Given the description of an element on the screen output the (x, y) to click on. 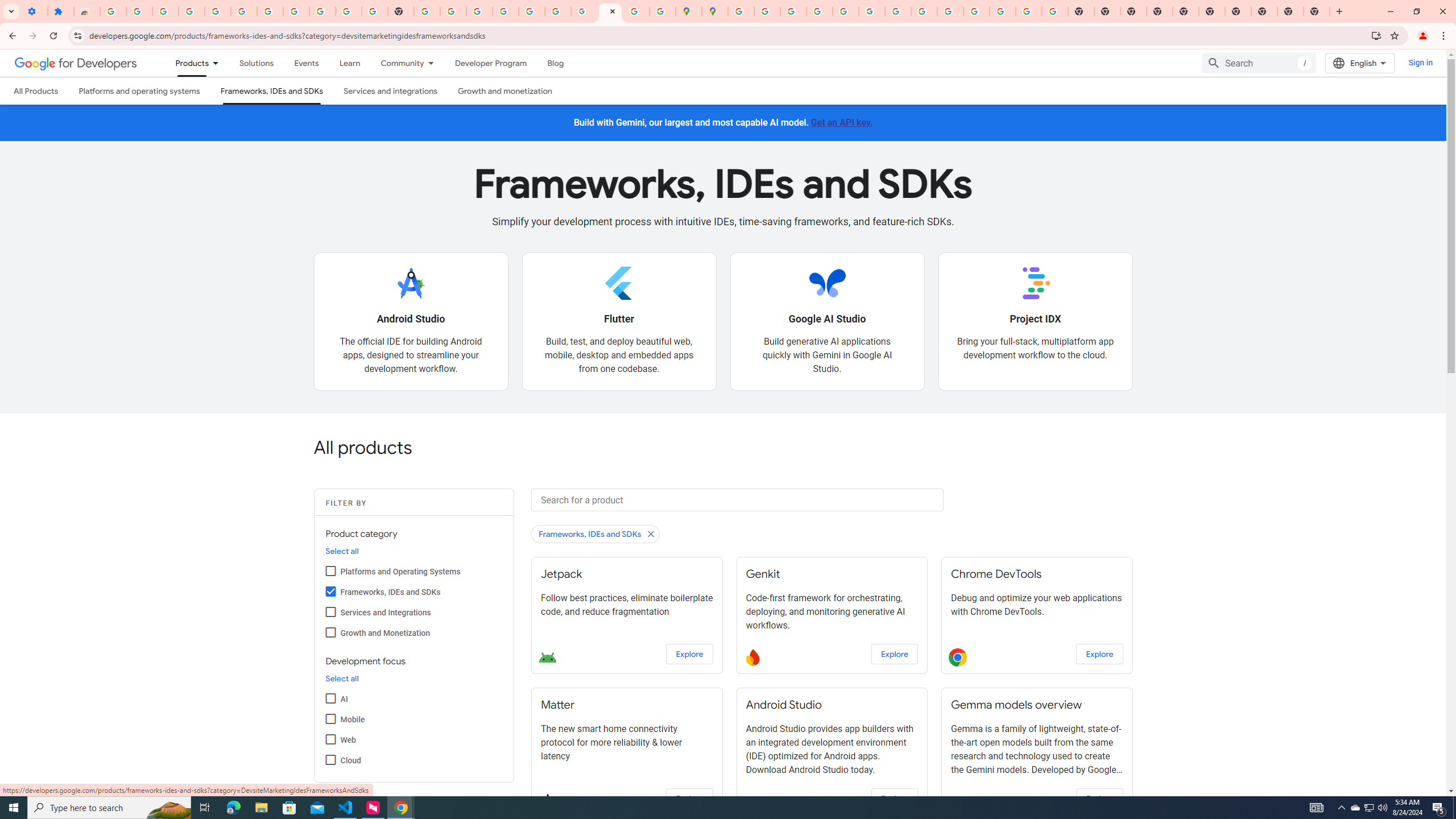
All Products (35, 90)
Solutions (255, 62)
Settings - On startup (34, 11)
Sign in - Google Accounts (740, 11)
Frameworks, IDEs and SDKs, selected (271, 90)
Delete photos & videos - Computer - Google Photos Help (191, 11)
Services and integrations (390, 90)
